Given the description of an element on the screen output the (x, y) to click on. 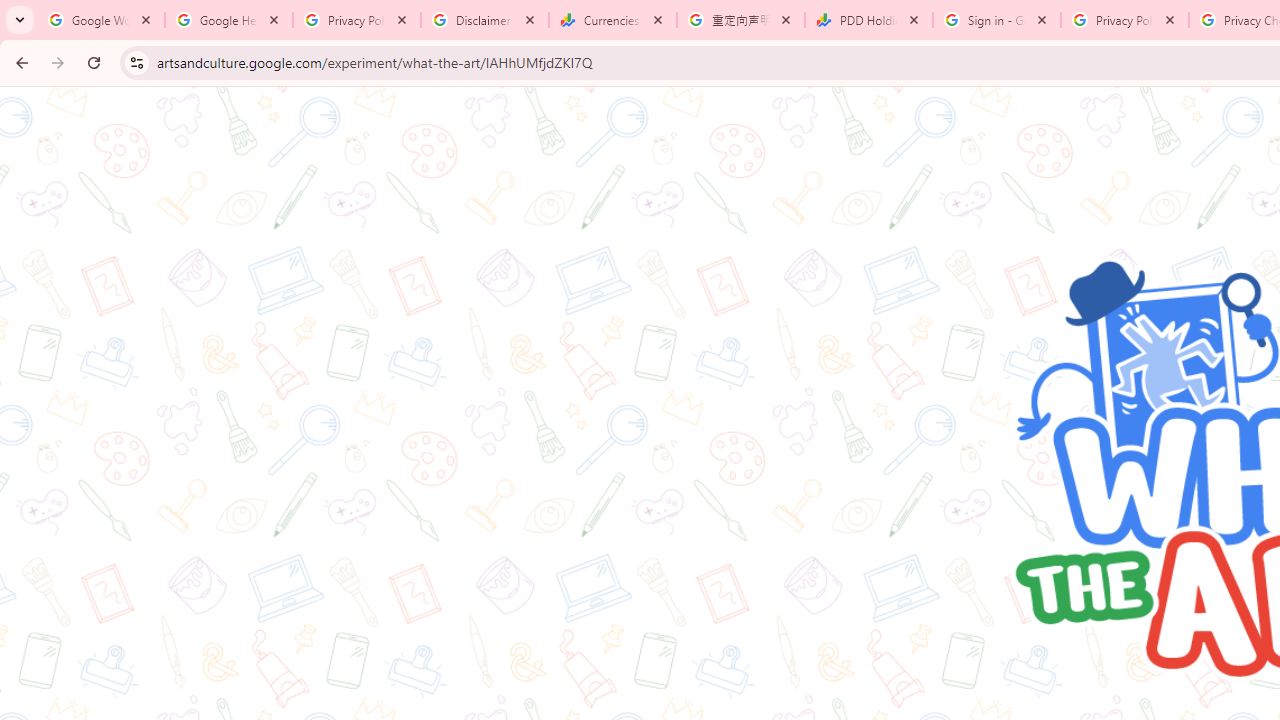
Google Workspace Admin Community (101, 20)
PDD Holdings Inc - ADR (PDD) Price & News - Google Finance (869, 20)
Currencies - Google Finance (613, 20)
Sign in - Google Accounts (997, 20)
